Given the description of an element on the screen output the (x, y) to click on. 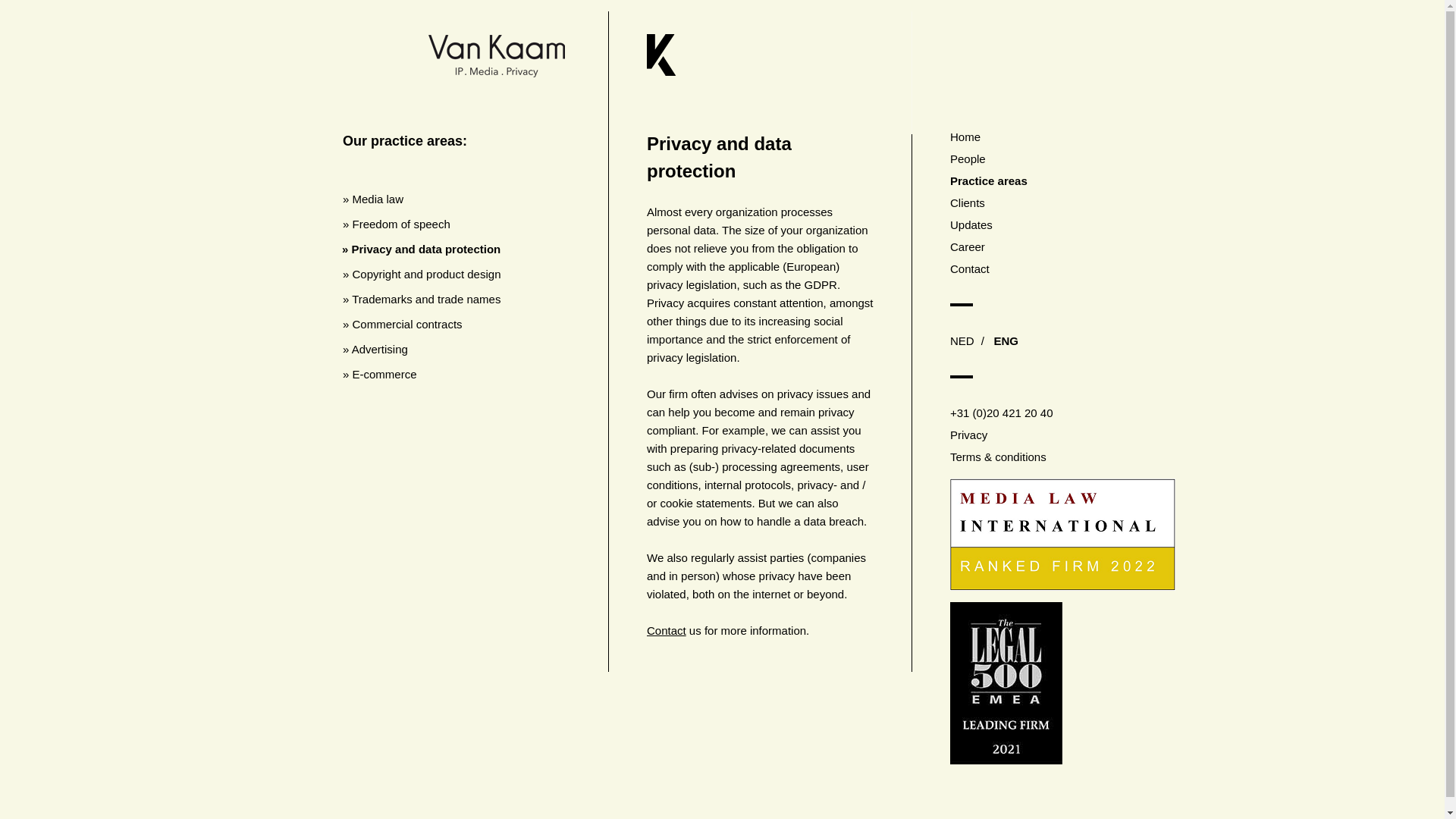
ENG (1008, 340)
Career (1045, 246)
Home (1045, 136)
Practice areas (1045, 180)
Privacy (1045, 434)
Updates (1045, 224)
Contact (1045, 268)
Career (1045, 246)
People (1045, 158)
Media Law International (1062, 585)
Practice areas (1045, 180)
Privacy statement PDF (1045, 434)
Home (1045, 136)
Clients (1045, 202)
Clients (1045, 202)
